Given the description of an element on the screen output the (x, y) to click on. 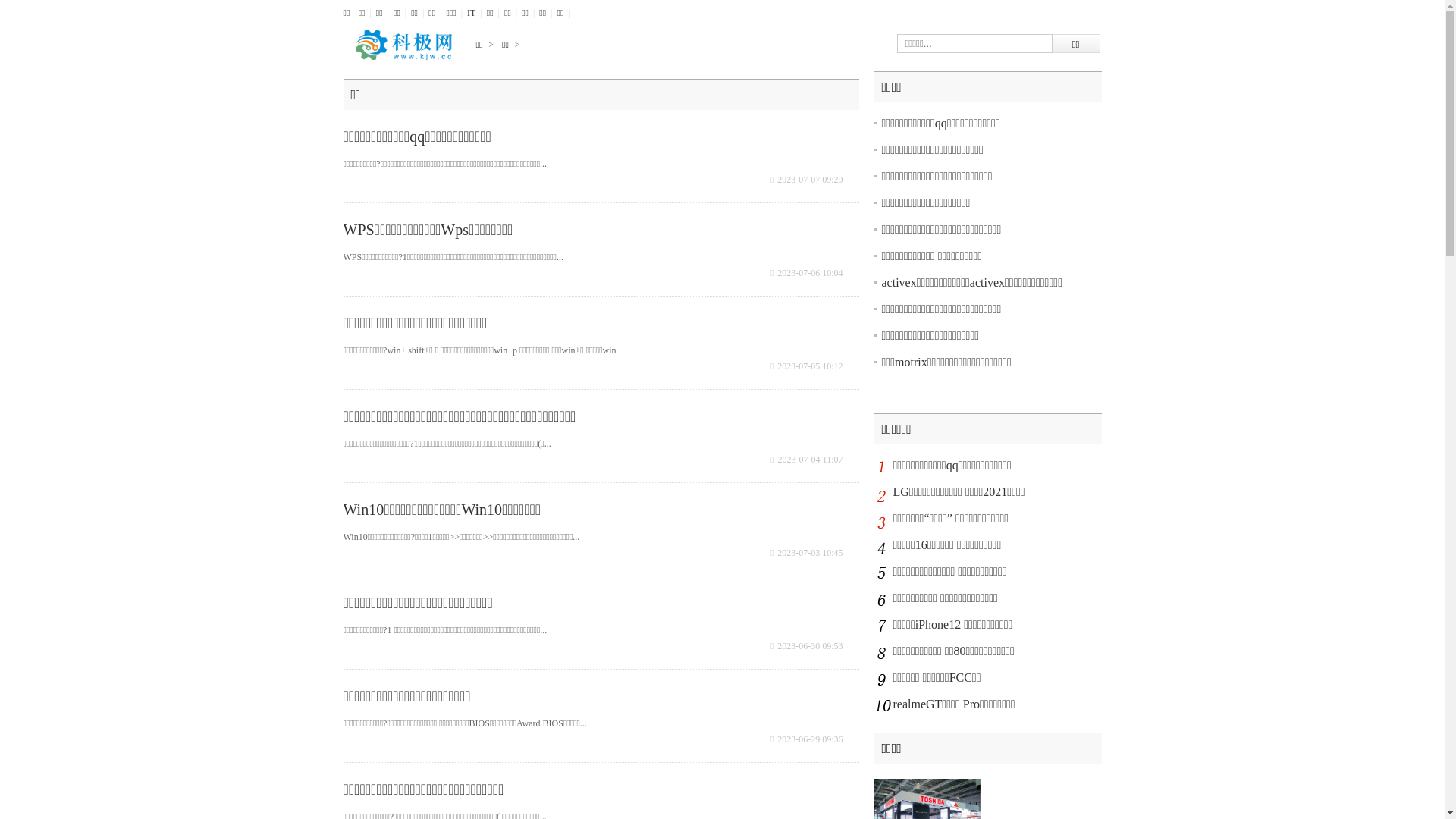
IT Element type: text (470, 12)
